Given the description of an element on the screen output the (x, y) to click on. 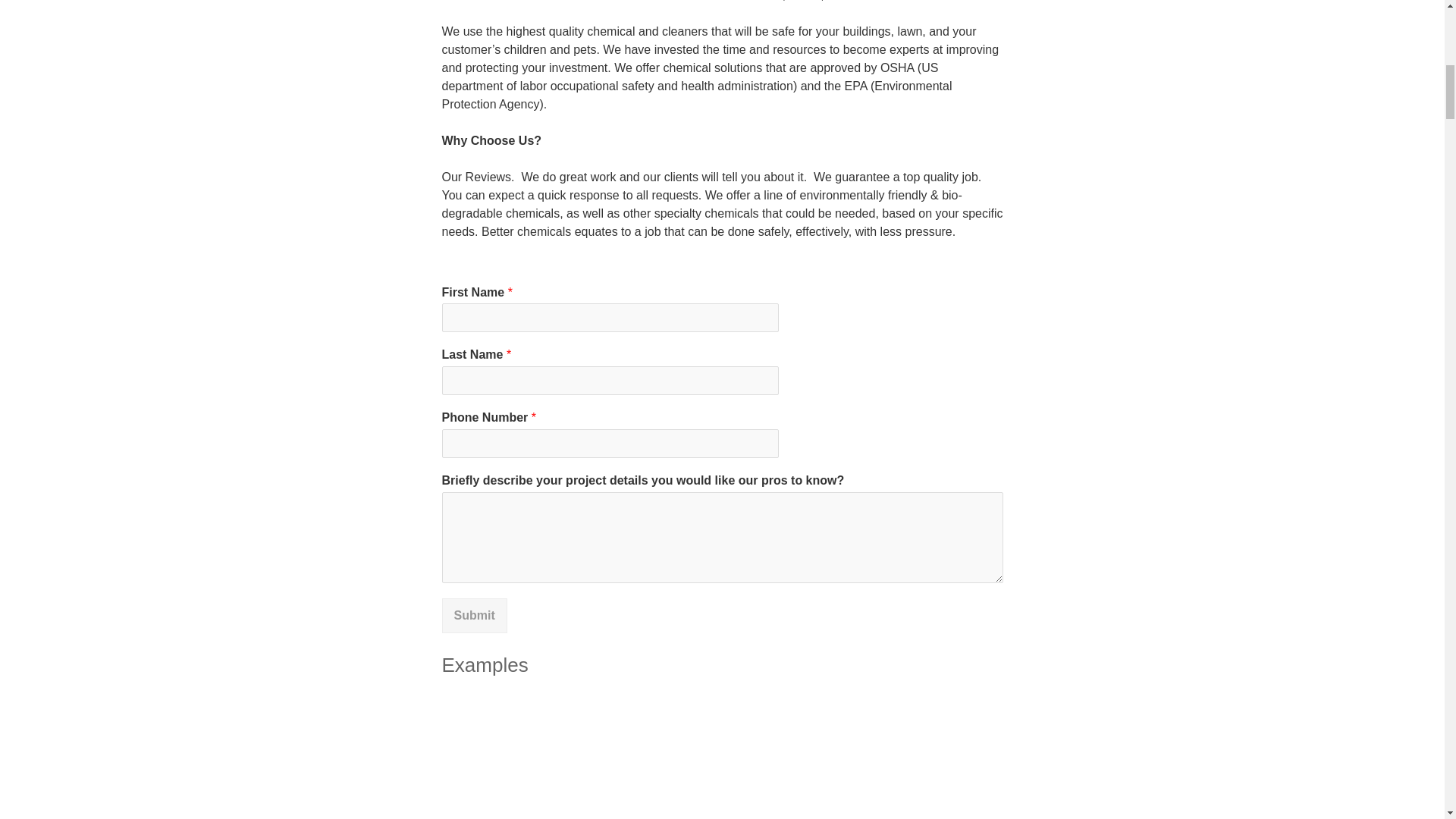
Submit (473, 615)
